Given the description of an element on the screen output the (x, y) to click on. 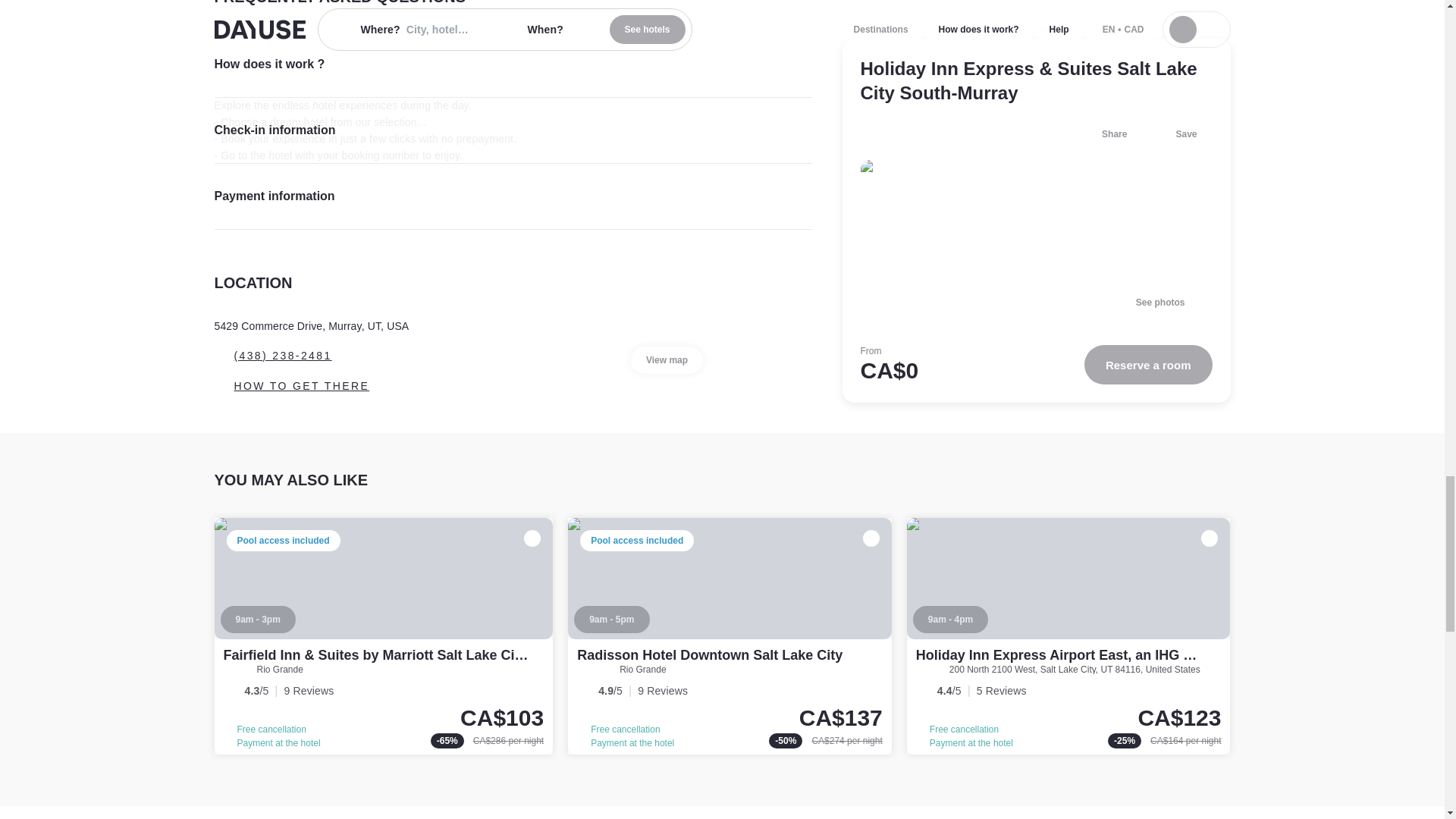
Radisson Hotel Downtown Salt Lake City (709, 654)
Holiday Inn Express Airport East, an IHG Hotel (1066, 654)
Radisson Hotel Downtown Salt Lake City (729, 635)
Holiday Inn Express Airport East, an IHG Hotel (1068, 635)
